Given the description of an element on the screen output the (x, y) to click on. 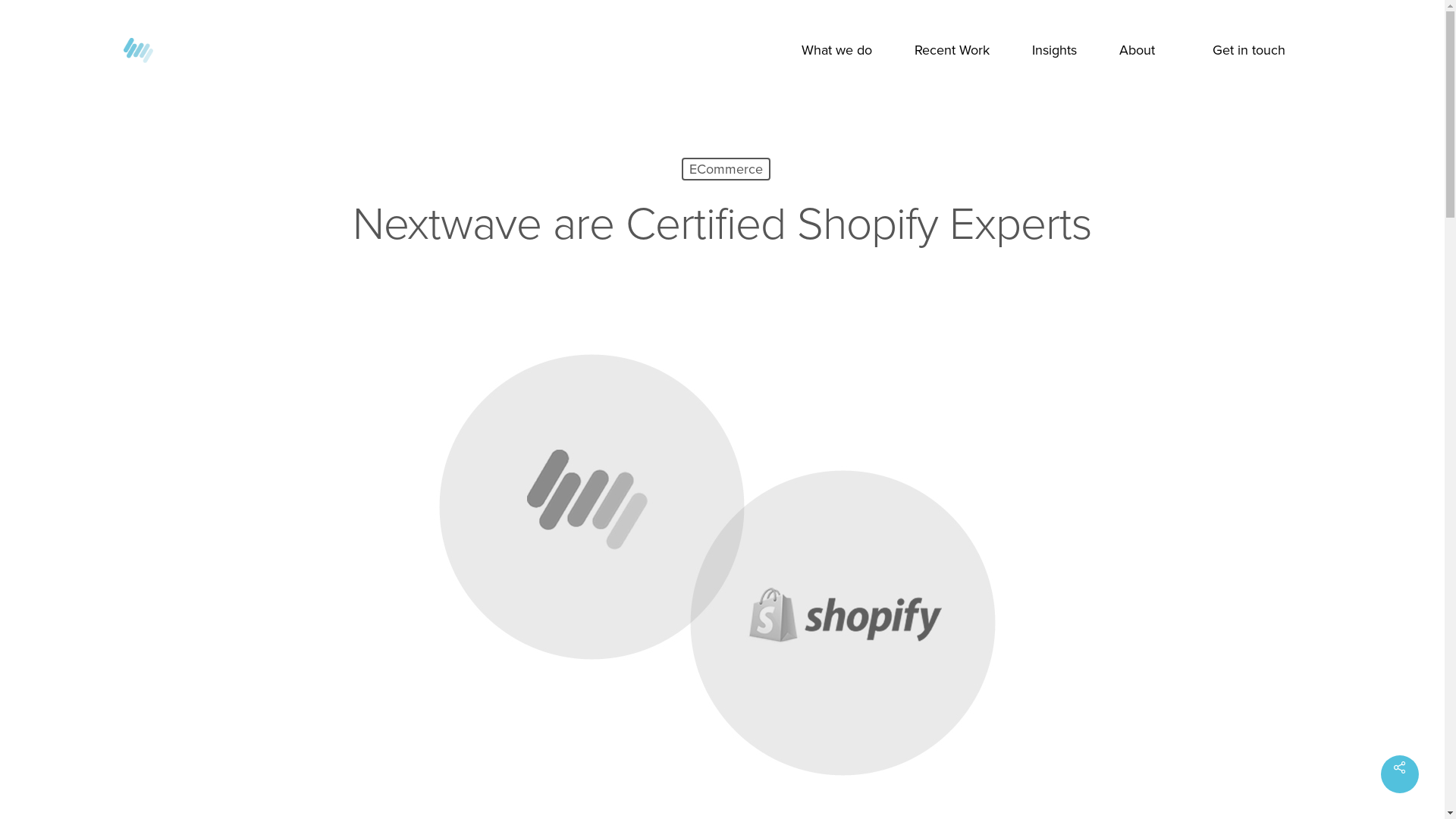
About Element type: text (1136, 49)
Get in touch Element type: text (1247, 49)
Recent Work Element type: text (951, 49)
ECommerce Element type: text (724, 168)
Insights Element type: text (1053, 49)
What we do Element type: text (835, 49)
